Given the description of an element on the screen output the (x, y) to click on. 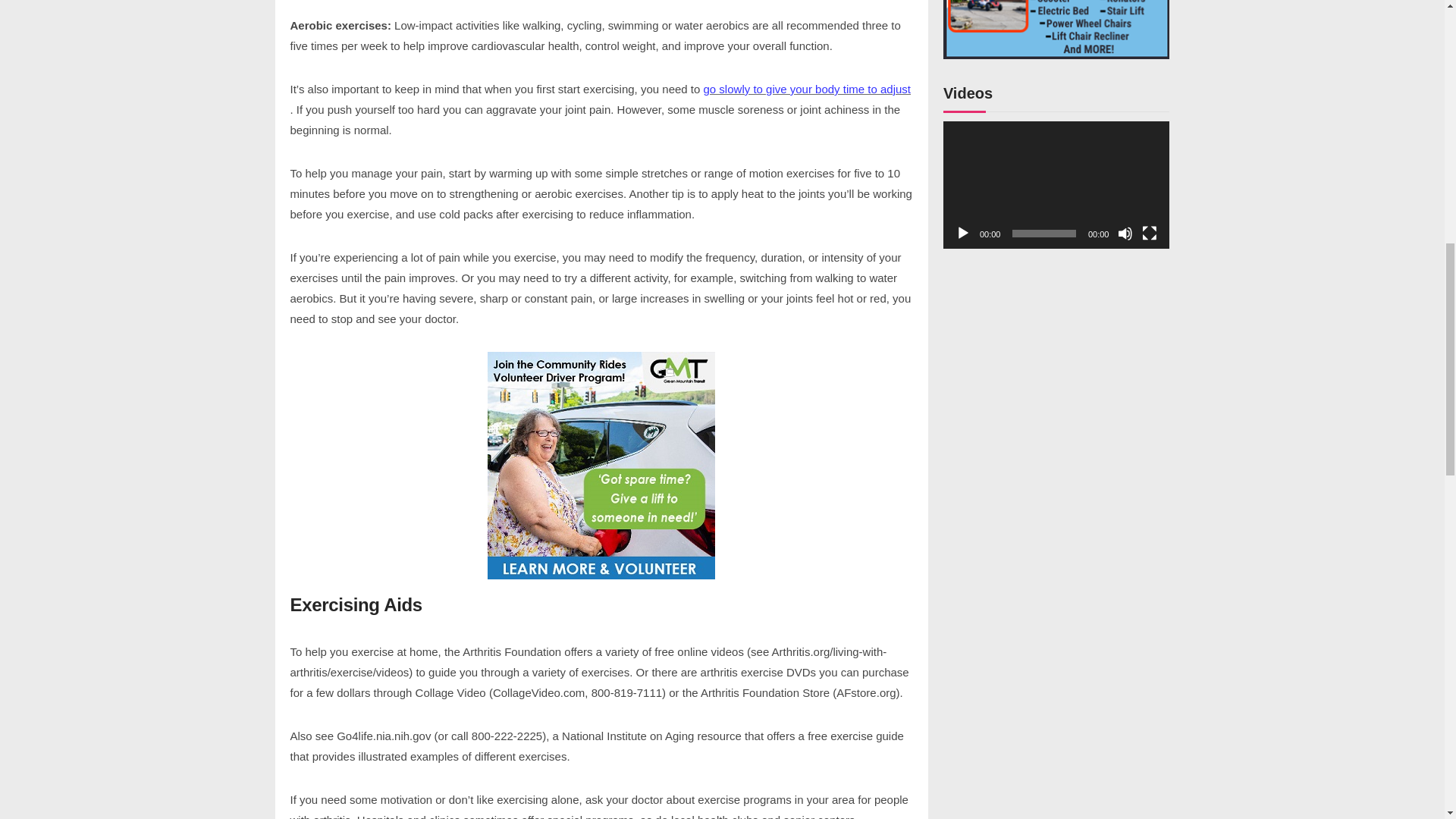
Mute (1125, 233)
Play (963, 233)
Fullscreen (1149, 233)
